Given the description of an element on the screen output the (x, y) to click on. 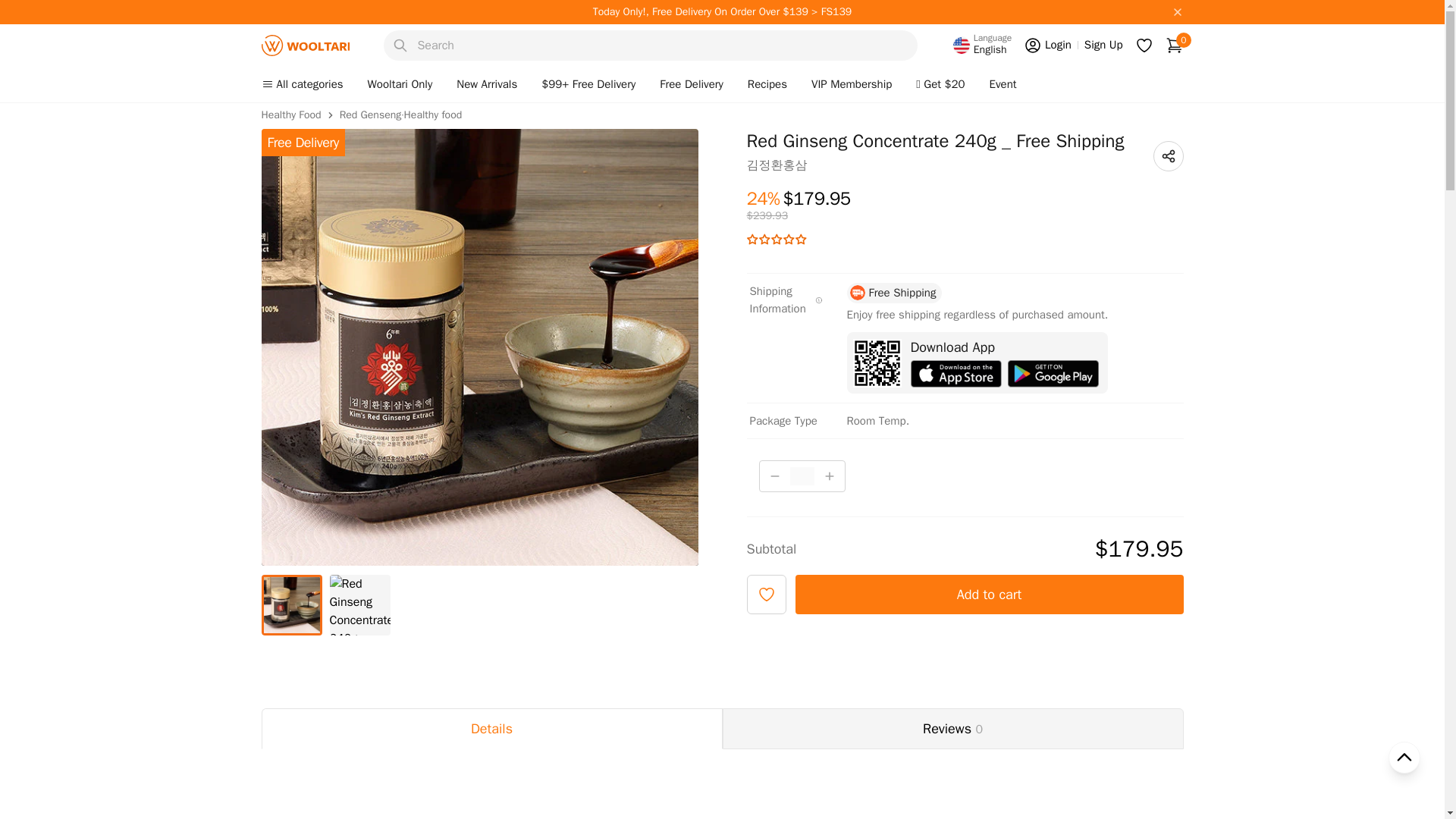
Login (1173, 45)
Wooltari (1047, 45)
Sign Up (304, 45)
All categories (1103, 45)
